Given the description of an element on the screen output the (x, y) to click on. 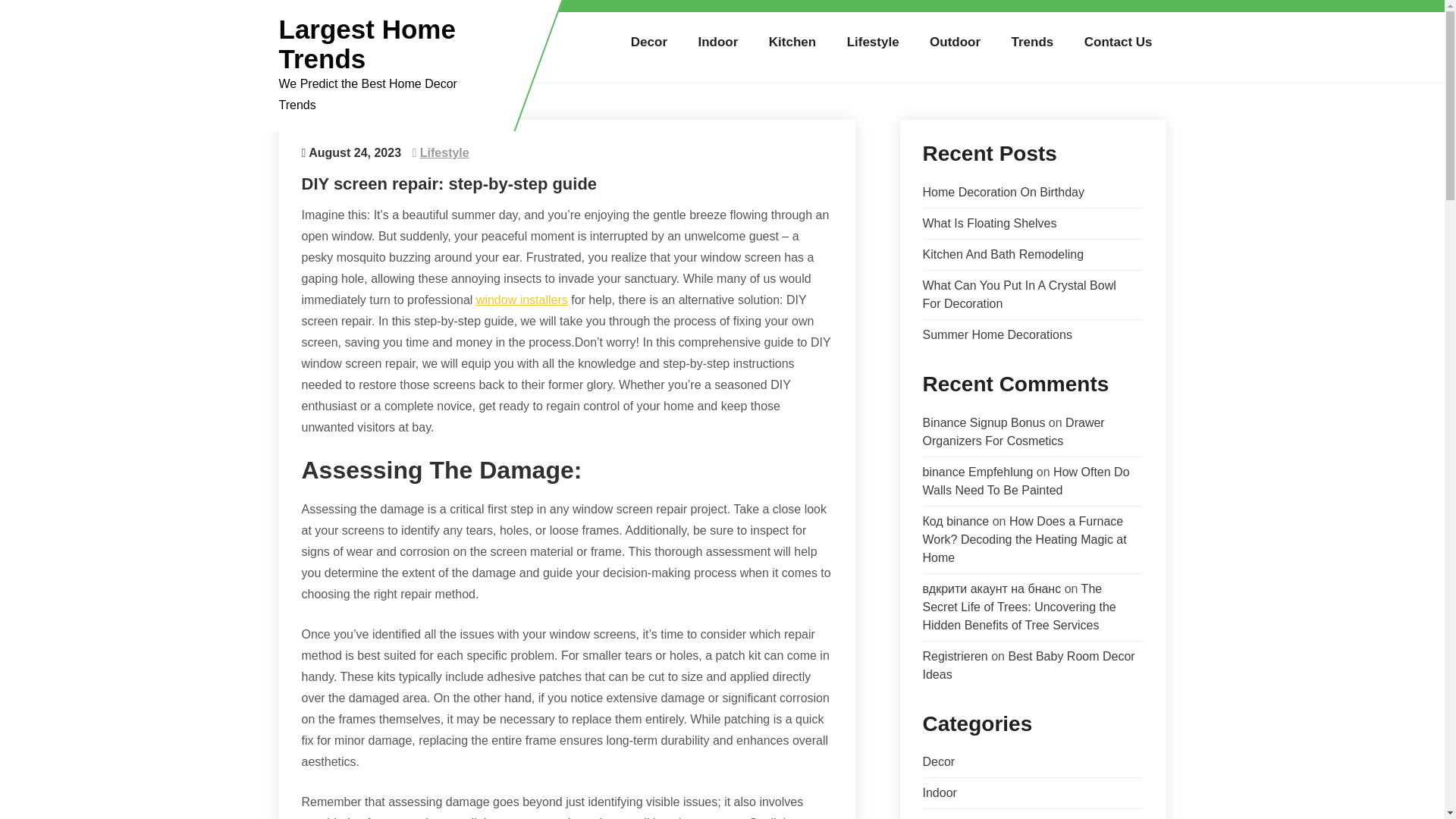
Contact Us (1118, 42)
Largest Home Trends (382, 44)
Decor (648, 42)
Decor (938, 761)
Kitchen And Bath Remodeling (1002, 254)
Trends (1032, 42)
What Can You Put In A Crystal Bowl For Decoration (1018, 294)
Summer Home Decorations (996, 334)
Best Baby Room Decor Ideas (1027, 665)
Outdoor (954, 42)
Lifestyle (444, 152)
How Often Do Walls Need To Be Painted (1025, 481)
Registrieren (954, 656)
Information (951, 818)
binance Empfehlung (976, 472)
